Given the description of an element on the screen output the (x, y) to click on. 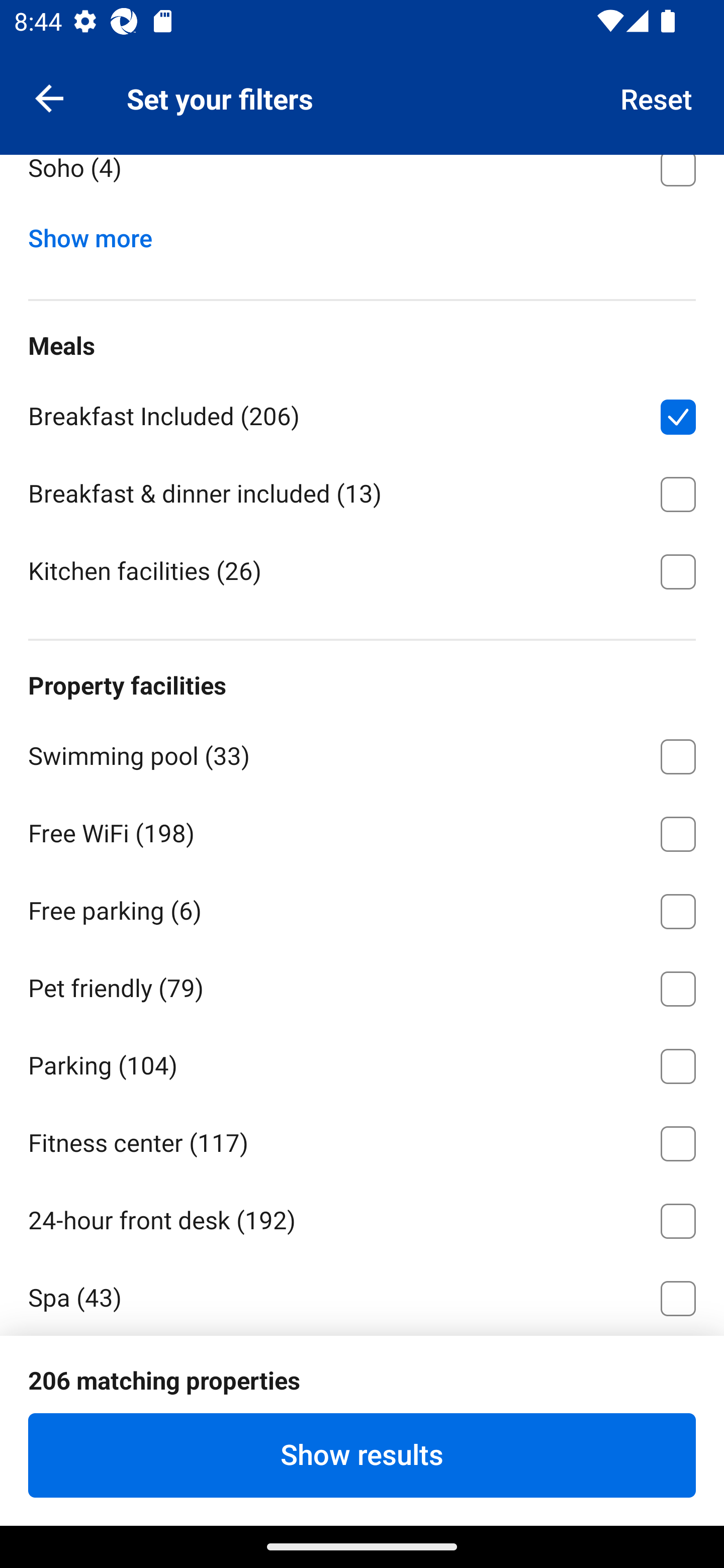
Navigate up (49, 97)
Kensington and Chelsea ⁦(38) (361, 87)
Reset (656, 97)
Soho ⁦(4) (361, 183)
Show more (97, 234)
Breakfast Included ⁦(206) (361, 412)
Breakfast & dinner included ⁦(13) (361, 490)
Kitchen facilities ⁦(26) (361, 569)
Swimming pool ⁦(33) (361, 753)
Free WiFi ⁦(198) (361, 829)
Free parking ⁦(6) (361, 907)
Pet friendly ⁦(79) (361, 985)
Parking ⁦(104) (361, 1062)
Fitness center ⁦(117) (361, 1140)
24-hour front desk ⁦(192) (361, 1217)
Spa ⁦(43) (361, 1294)
Show results (361, 1454)
